Given the description of an element on the screen output the (x, y) to click on. 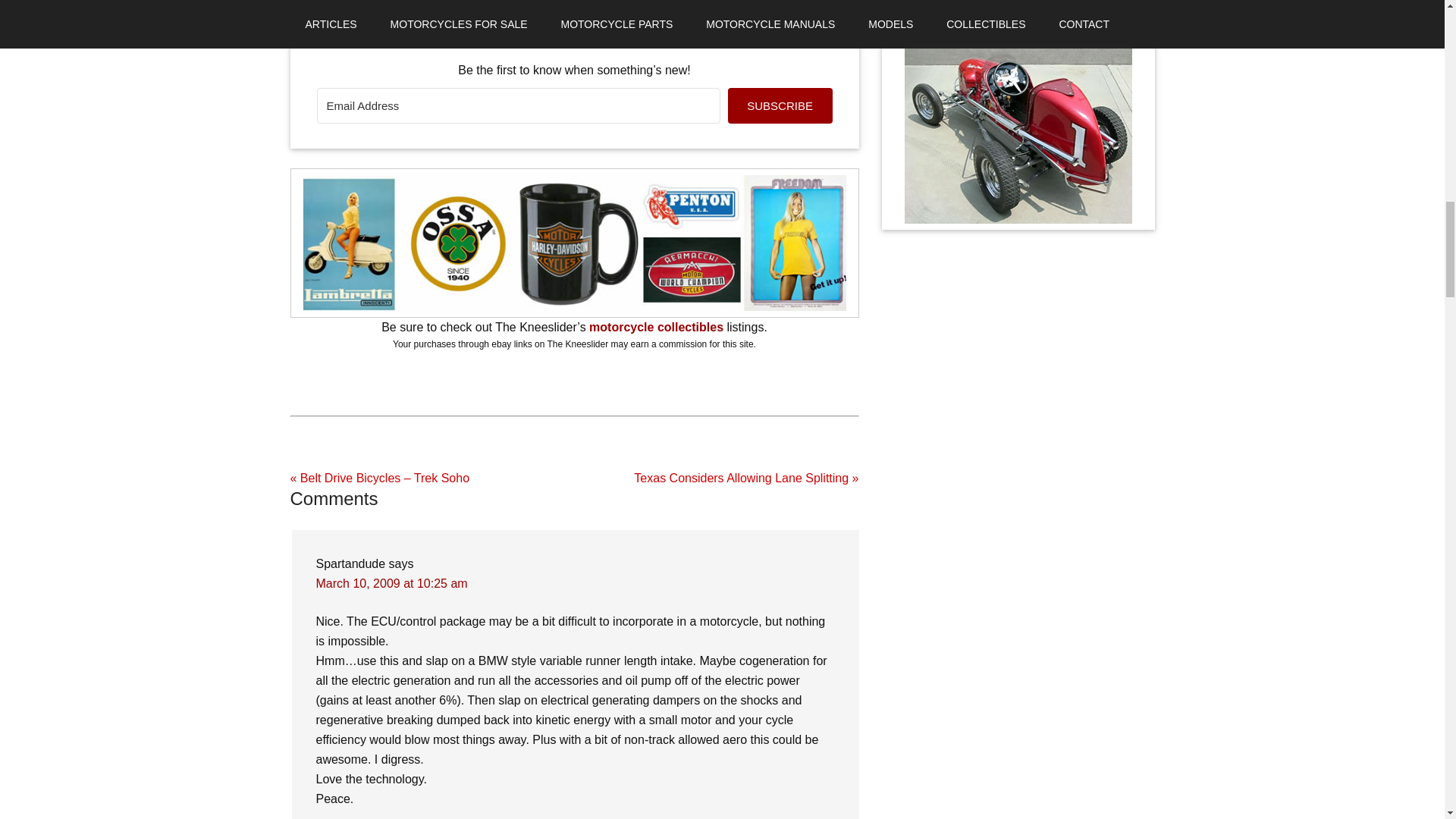
SUBSCRIBE (780, 105)
March 10, 2009 at 10:25 am (391, 583)
motorcycle collectibles (656, 327)
Bill Vukovitch Drake Harley Davidson powered midget racer (1017, 128)
